Given the description of an element on the screen output the (x, y) to click on. 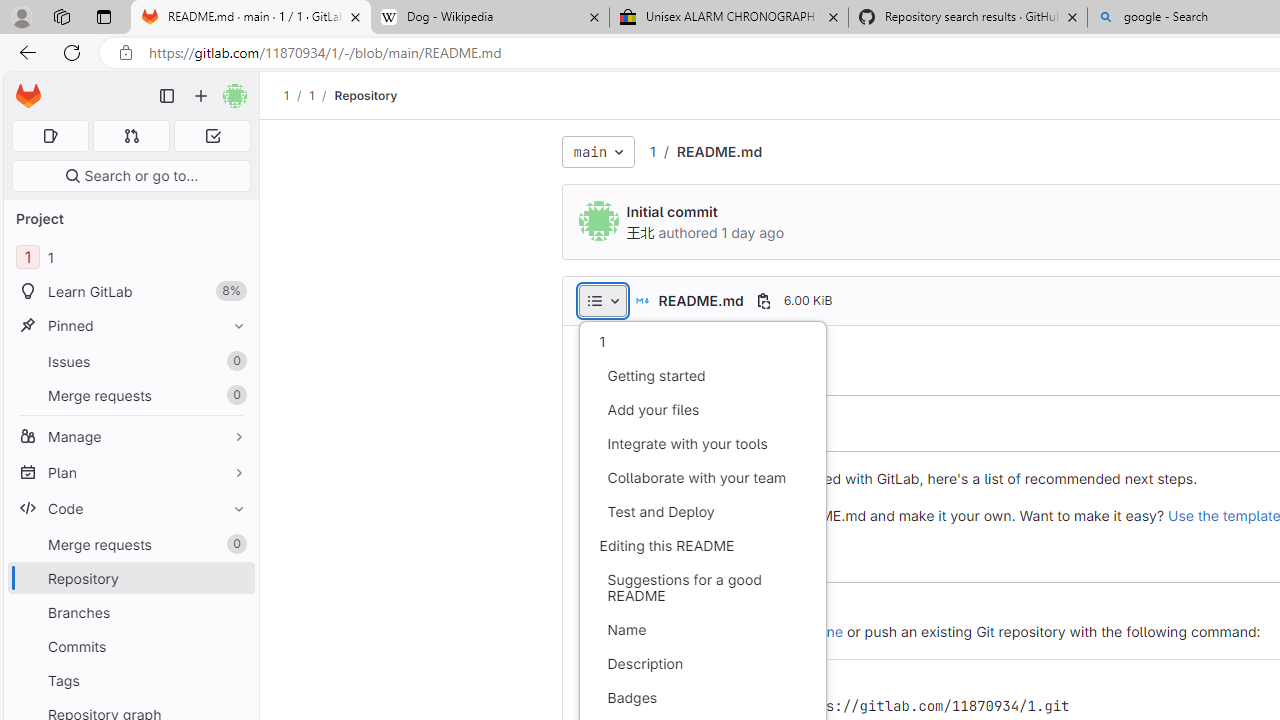
Repository (366, 95)
Repository (366, 95)
Create (644, 608)
Class: task-list-item-checkbox (608, 632)
main (598, 151)
upload (710, 608)
Collaborate with your team (701, 477)
Learn GitLab8% (130, 291)
1 (701, 341)
Name (701, 629)
Branches (130, 612)
Add your files (701, 409)
